Given the description of an element on the screen output the (x, y) to click on. 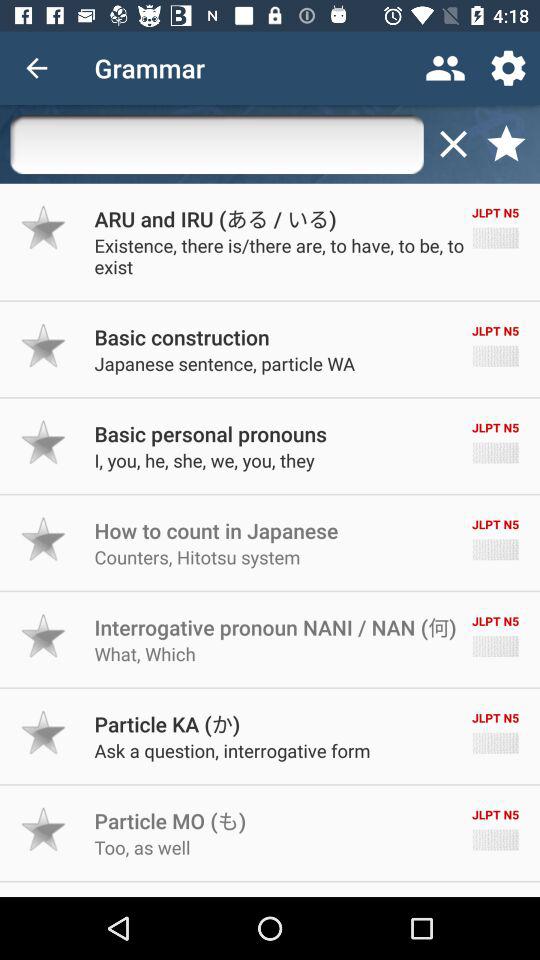
press item next to the grammar (36, 68)
